Given the description of an element on the screen output the (x, y) to click on. 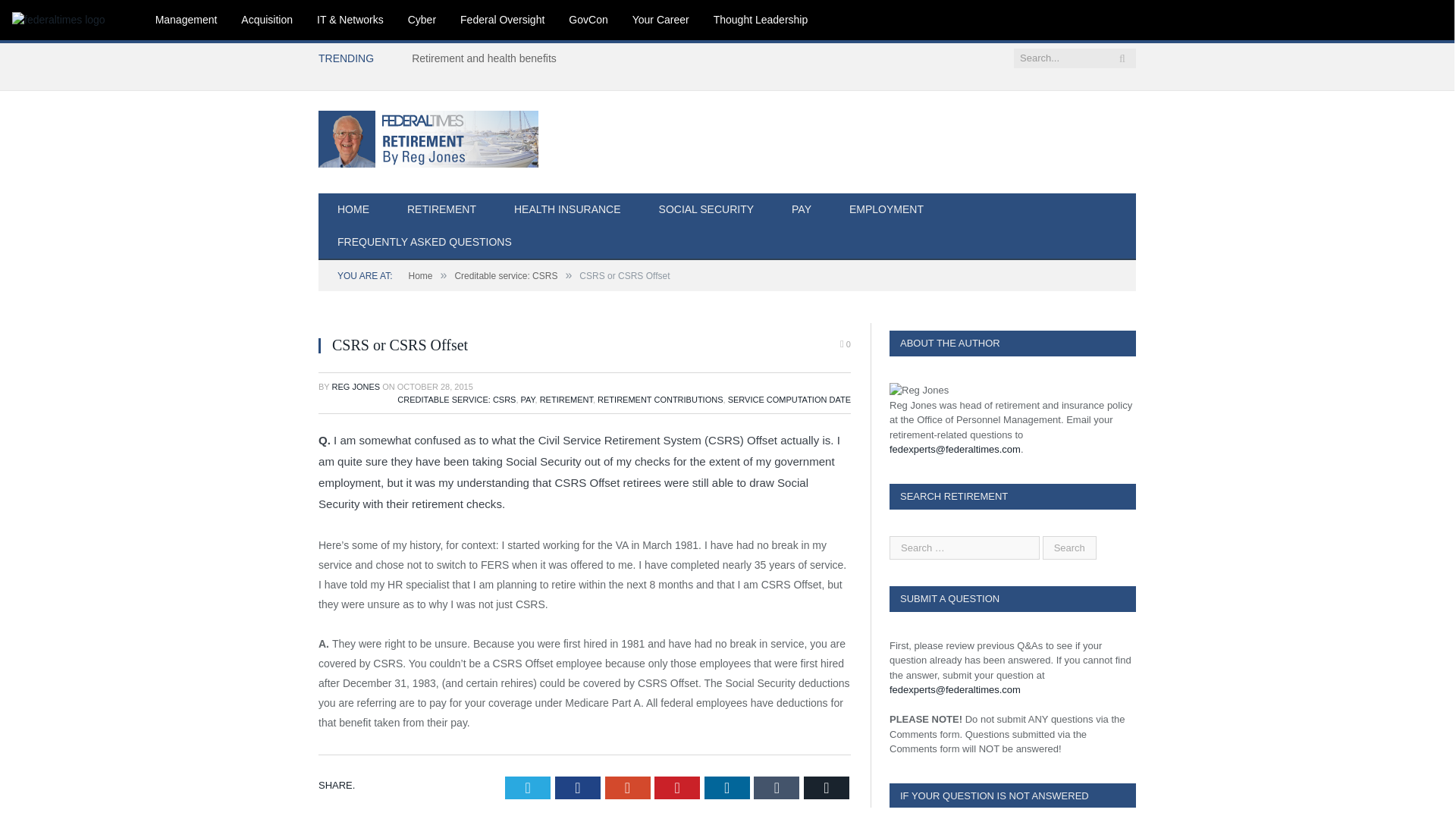
RETIREMENT (441, 210)
HEALTH INSURANCE (567, 210)
Management (186, 19)
Search (1069, 546)
SERVICE COMPUTATION DATE (789, 398)
Ask The Experts: Retirement (428, 136)
Posts by Reg Jones (355, 386)
GovCon (588, 19)
Cyber (422, 19)
Search (1069, 546)
